Given the description of an element on the screen output the (x, y) to click on. 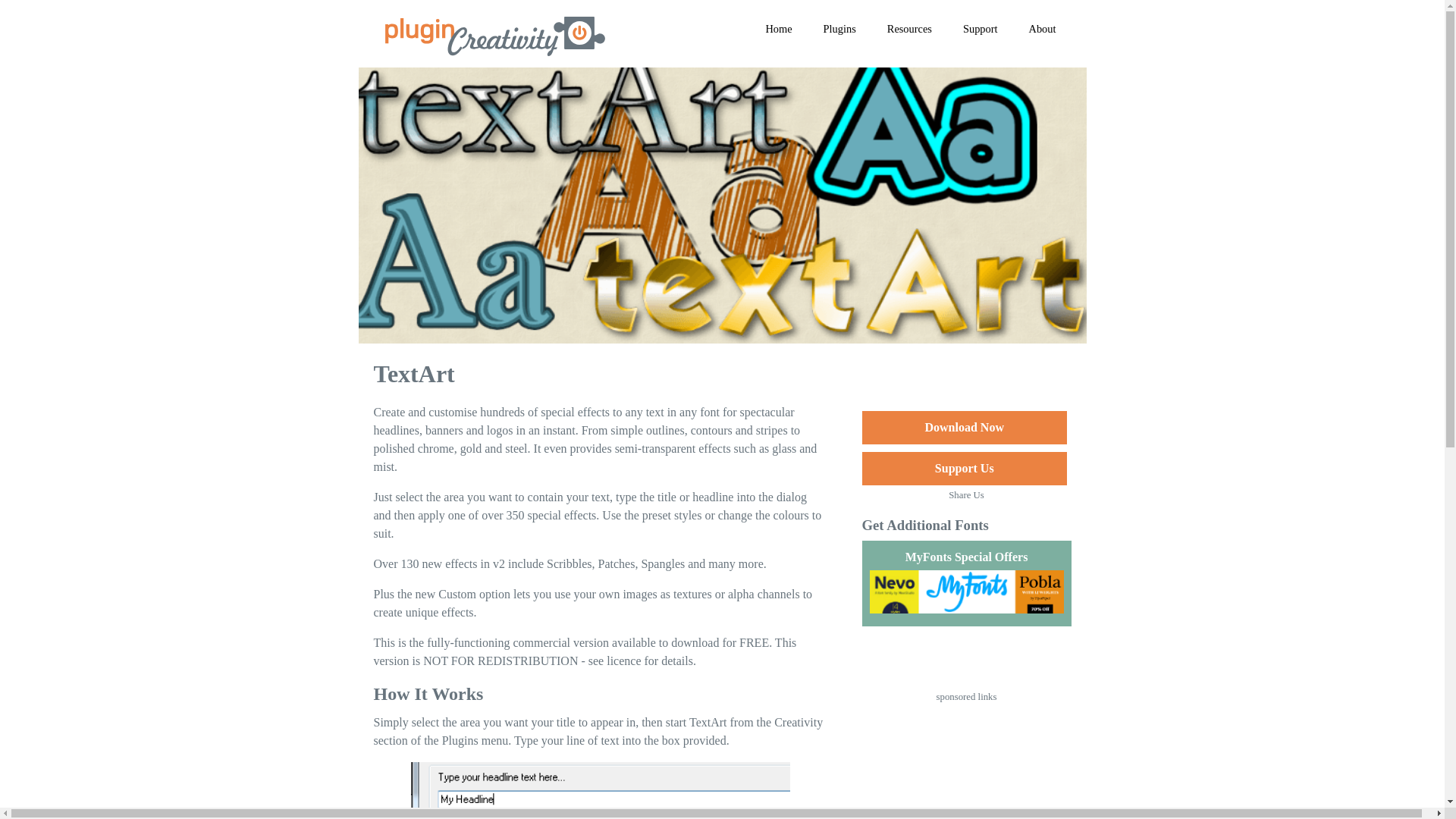
MyFonts Special Offers (965, 583)
textArt plugin screenshot 1 (600, 790)
Resources (909, 28)
Advertisement (966, 764)
Plugins (839, 28)
Support (980, 28)
About (1042, 28)
Download Now (963, 427)
Support Us (963, 468)
